Given the description of an element on the screen output the (x, y) to click on. 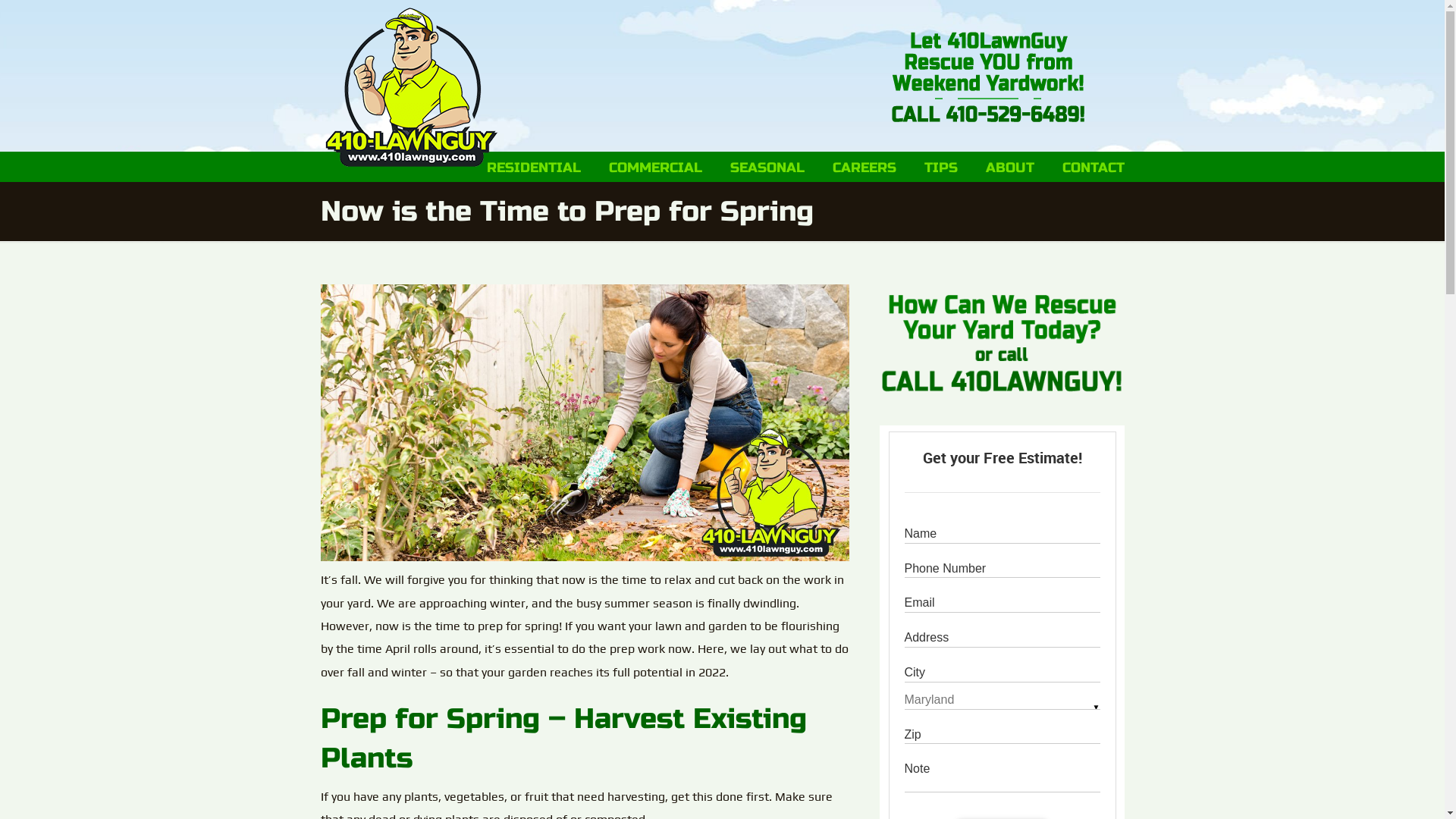
410 Lawn Guy Element type: text (411, 86)
CONTACT Element type: text (1092, 167)
COMMERCIAL Element type: text (654, 167)
ABOUT Element type: text (1009, 167)
CAREERS Element type: text (864, 167)
TIPS Element type: text (940, 167)
RESIDENTIAL Element type: text (533, 167)
SEASONAL Element type: text (766, 167)
